Given the description of an element on the screen output the (x, y) to click on. 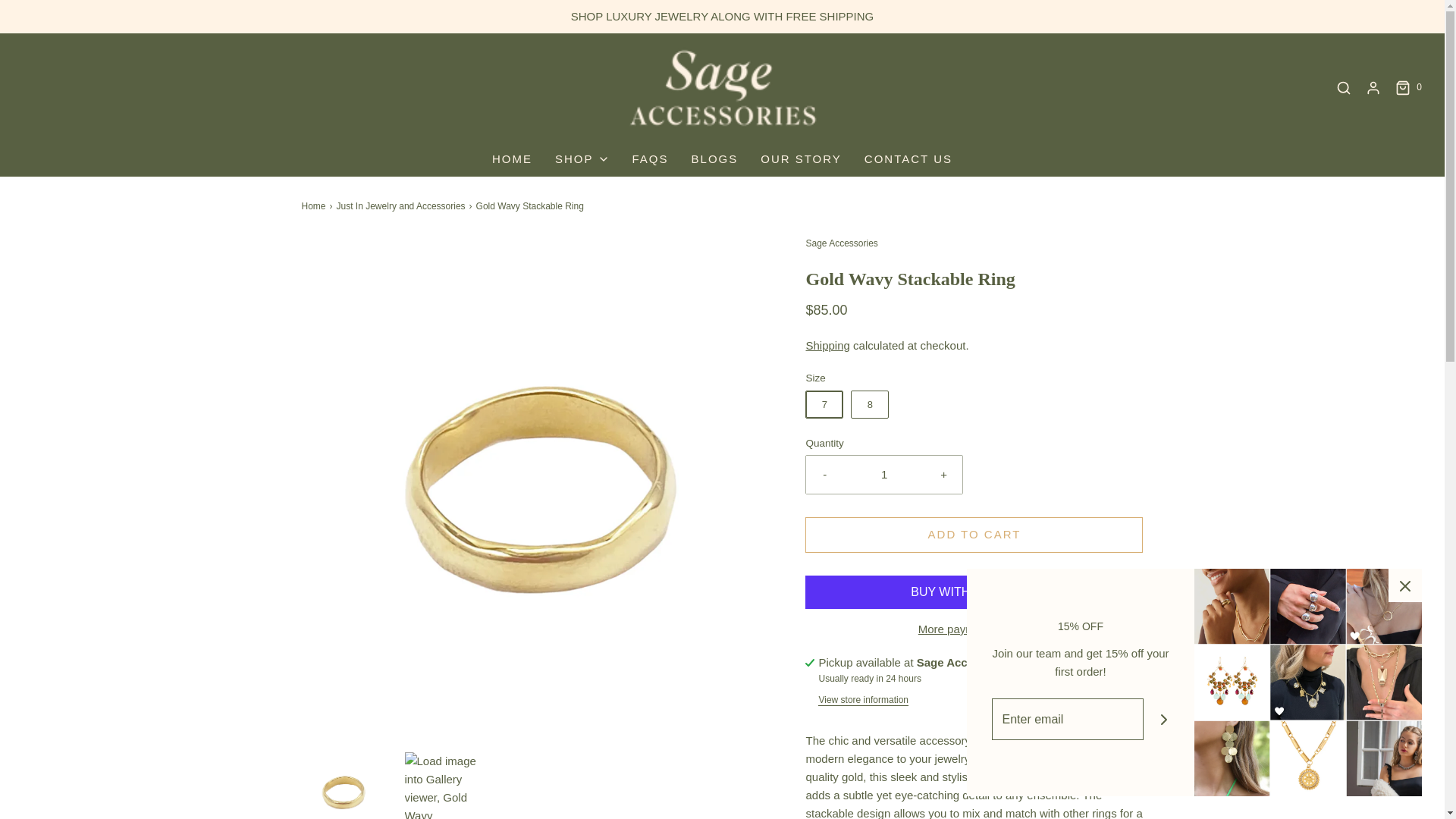
Search (1343, 87)
HOME (512, 159)
Log in (1372, 87)
SHOP (582, 159)
0 (1407, 87)
Back to the frontpage (315, 206)
1 (884, 474)
Cart (1407, 87)
